Given the description of an element on the screen output the (x, y) to click on. 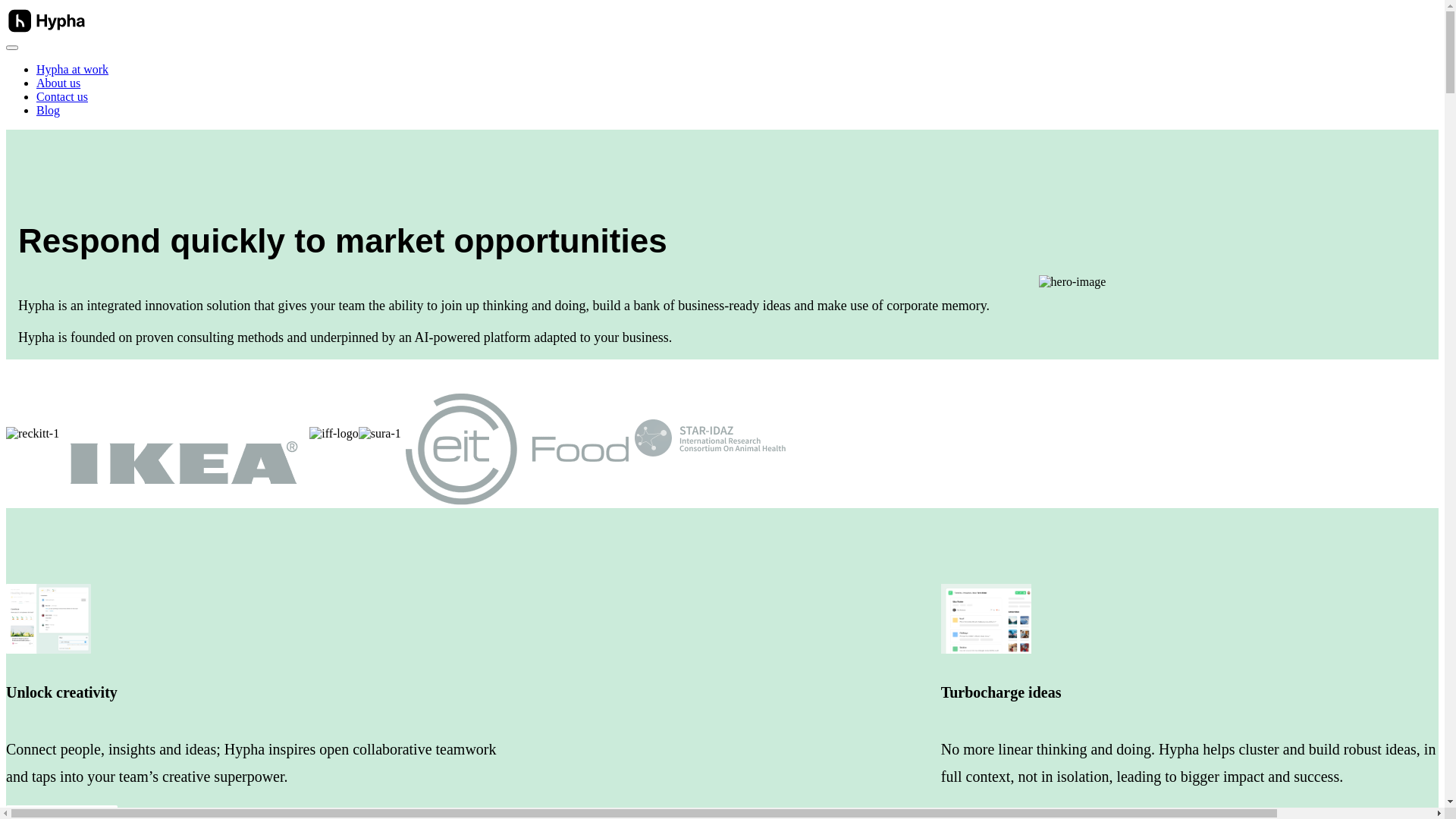
star-idaz Element type: hover (709, 431)
eit-food-1 Element type: hover (517, 432)
hero-image Element type: hover (1072, 281)
iff-logo Element type: hover (333, 433)
sura-1 Element type: hover (379, 433)
About us Element type: text (58, 82)
reckitt-1 Element type: hover (32, 433)
Blog Element type: text (47, 109)
Contact us Element type: text (61, 96)
ikea-1 Element type: hover (184, 432)
Hypha at work Element type: text (72, 68)
